Given the description of an element on the screen output the (x, y) to click on. 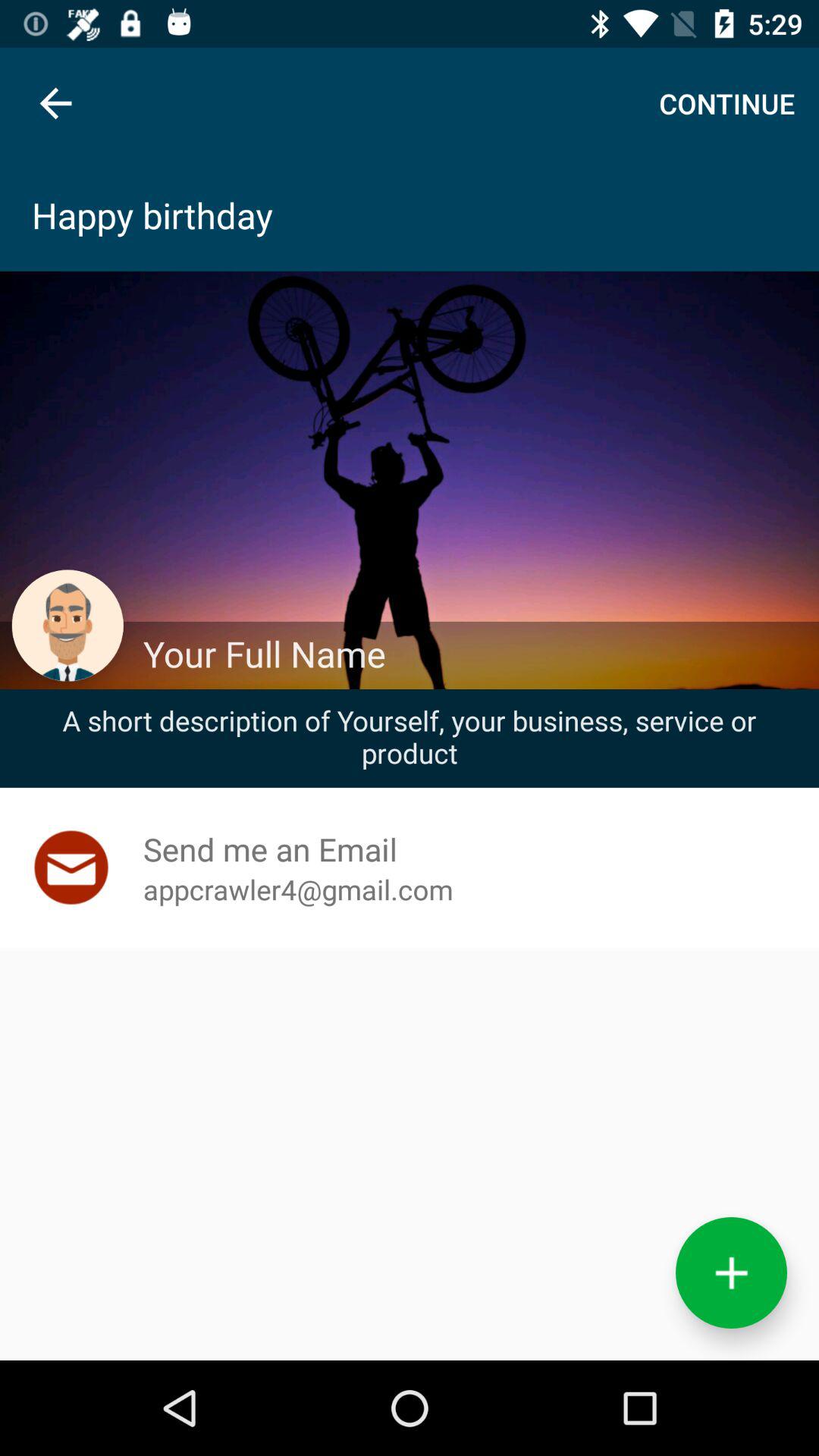
choose the continue item (727, 103)
